Given the description of an element on the screen output the (x, y) to click on. 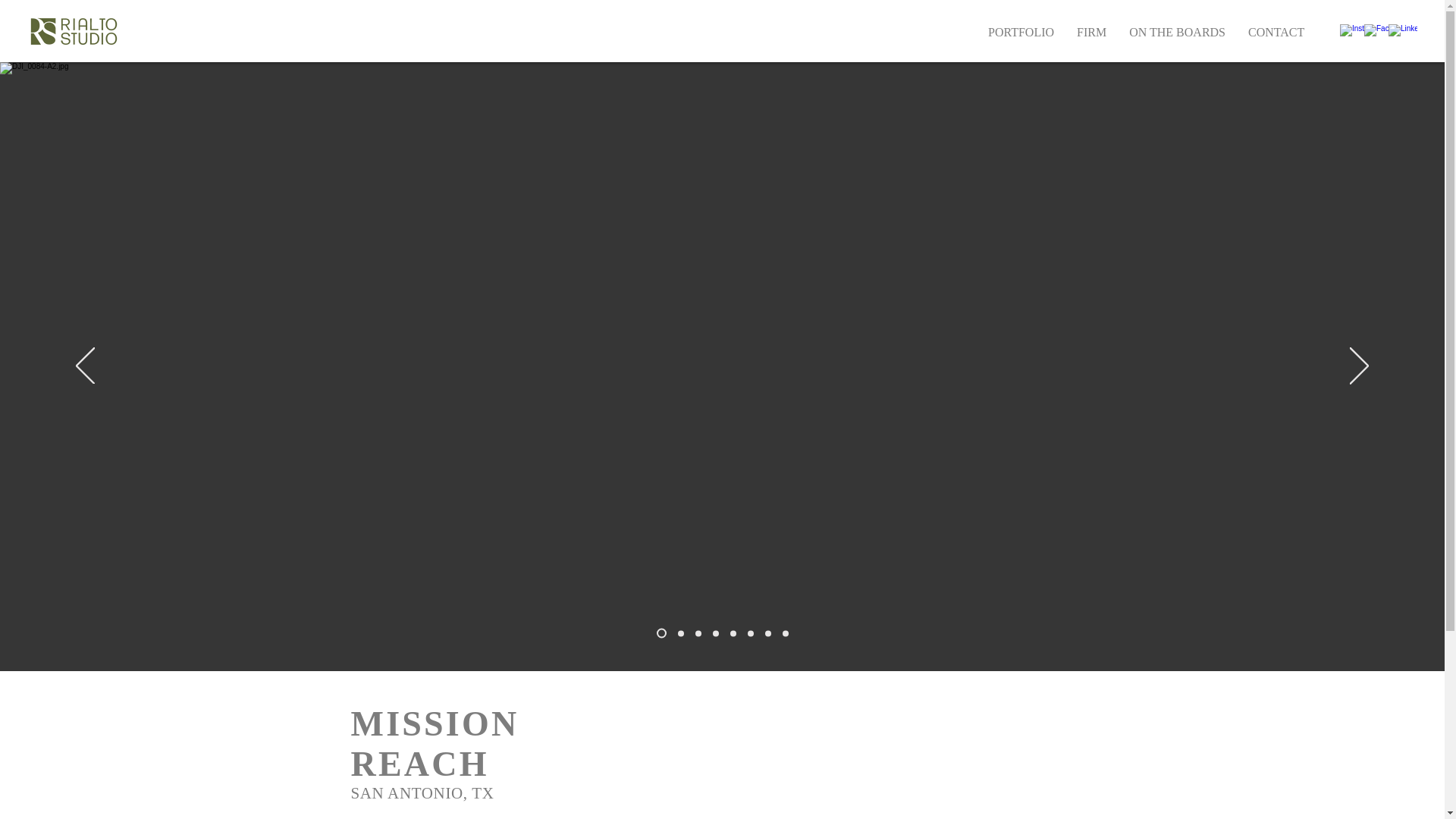
ON THE BOARDS (1177, 32)
CONTACT (1276, 32)
PORTFOLIO (1020, 32)
